Given the description of an element on the screen output the (x, y) to click on. 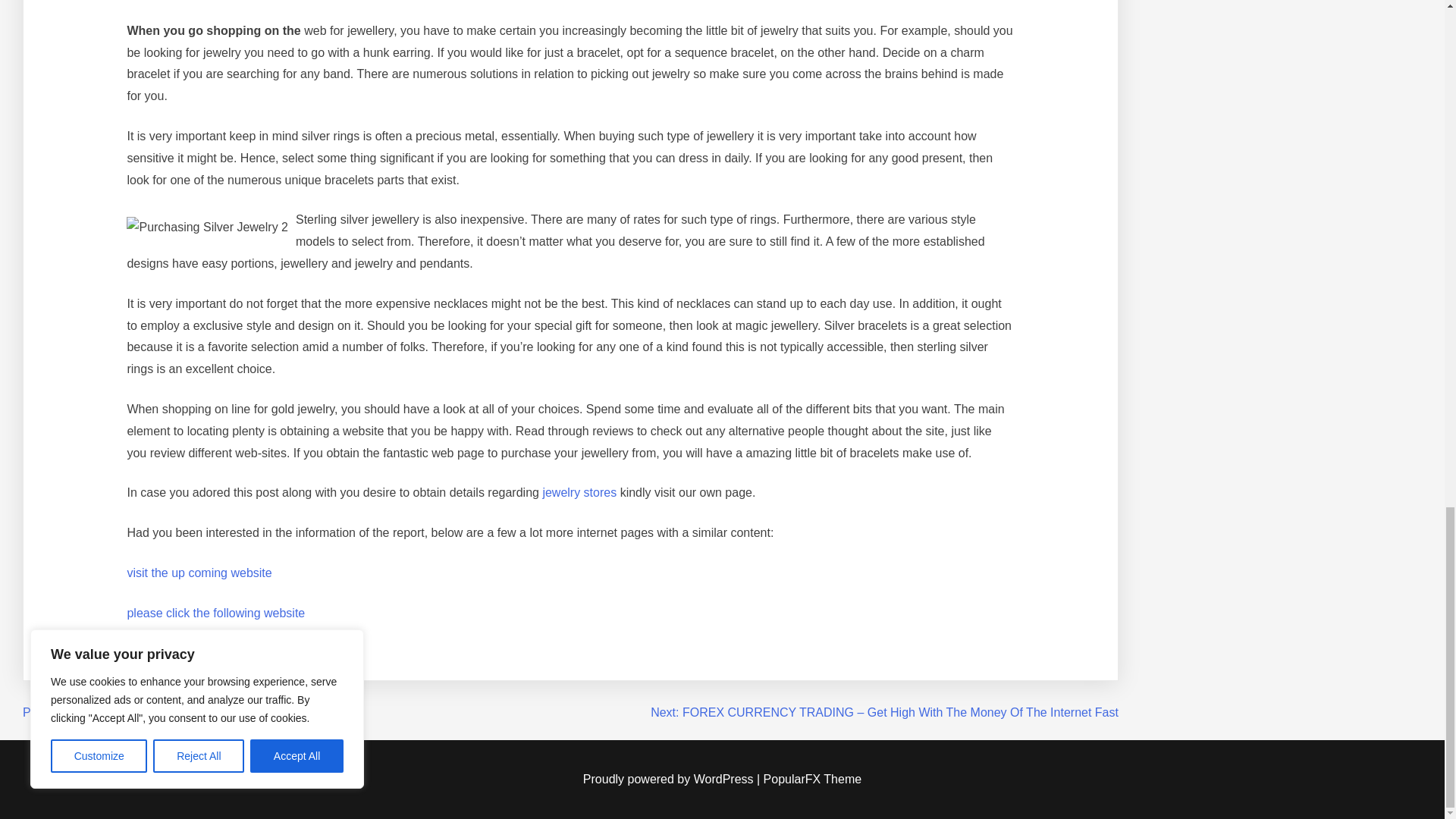
Previous: Knowing Strict Waking Up (119, 712)
General (125, 651)
please click the following website (215, 612)
Newest (218, 651)
visit the up coming website (198, 572)
jewelry stores (578, 492)
